Given the description of an element on the screen output the (x, y) to click on. 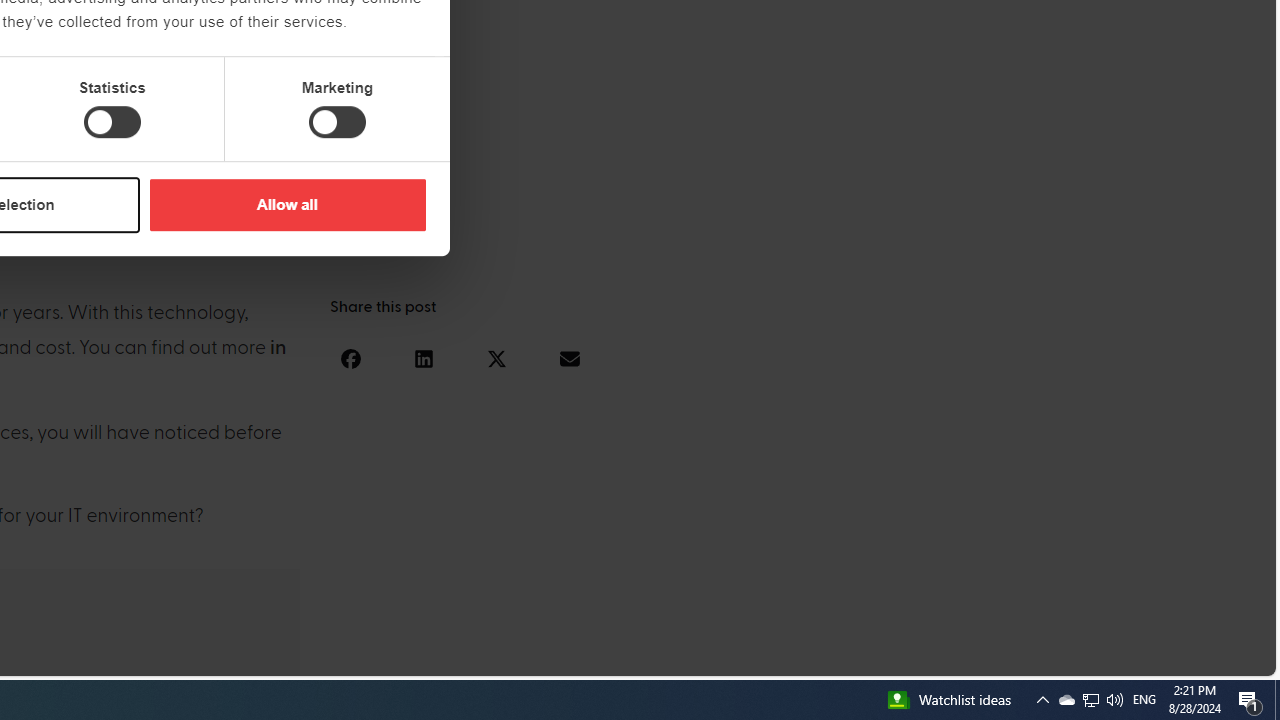
Share on linkedin (423, 358)
Language switcher : Spanish (925, 657)
Language switcher : German (885, 657)
Share on facebook (350, 358)
Language switcher : Norwegian (985, 657)
Language switcher : Greek (1145, 657)
Language switcher : Slovak (1085, 657)
Language switcher : Romanian (1126, 657)
Marketing (337, 121)
Language switcher : Portuguese (1185, 657)
Language switcher : Czech (1205, 657)
Statistics (111, 121)
Allow all (287, 204)
Language switcher : Dutch (965, 657)
Language switcher : Swedish (1105, 657)
